Given the description of an element on the screen output the (x, y) to click on. 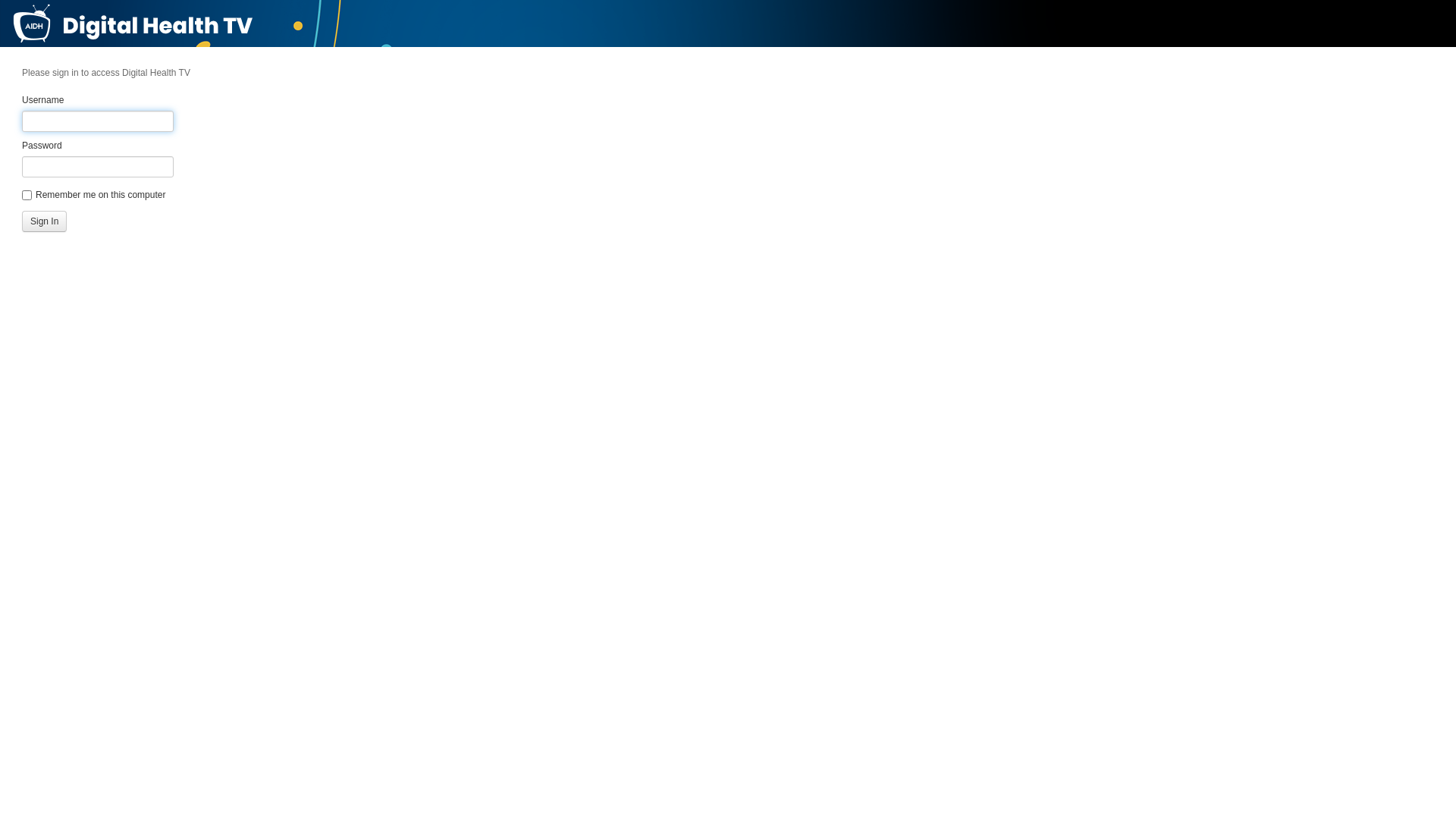
Sign In Element type: text (43, 221)
